Given the description of an element on the screen output the (x, y) to click on. 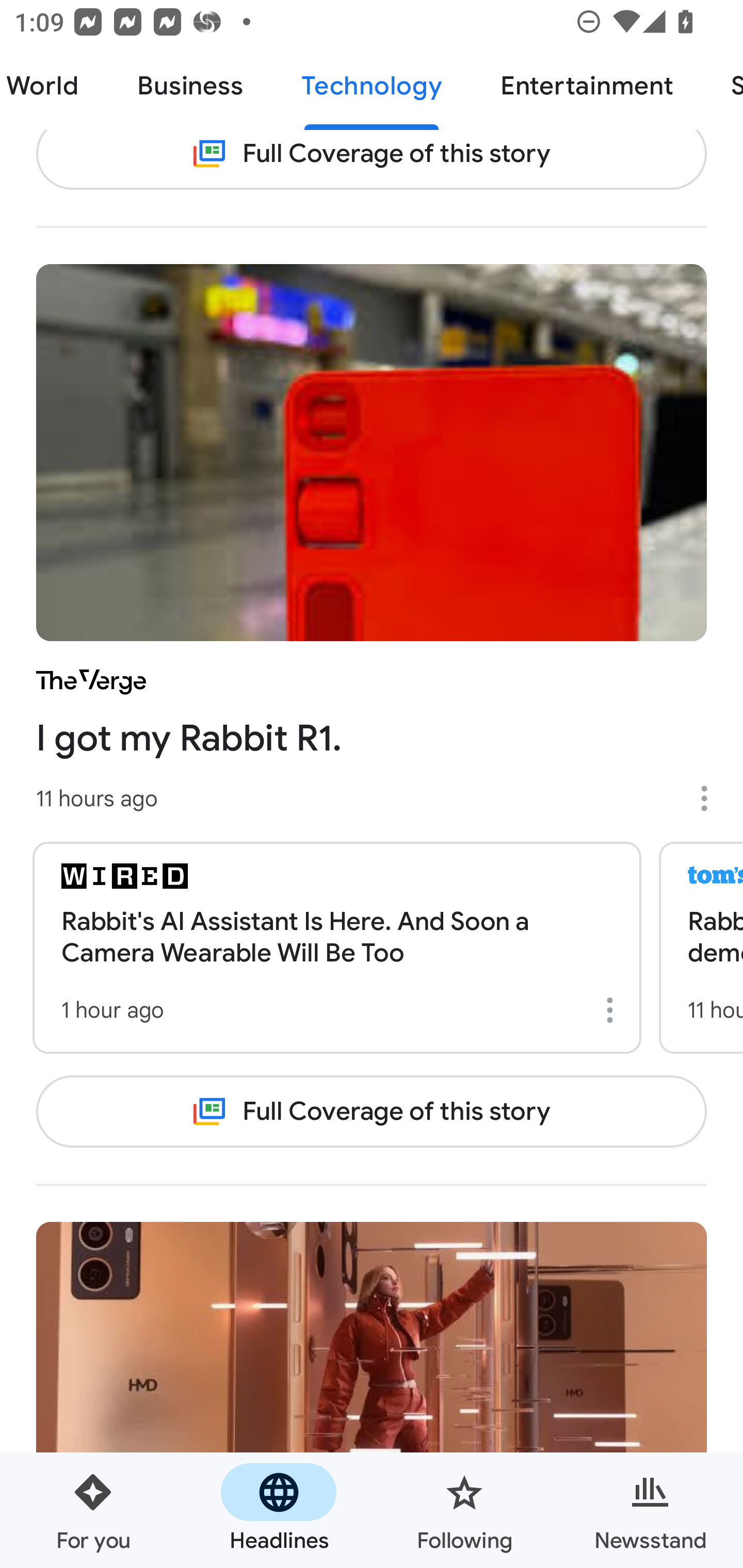
World (53, 86)
Business (189, 86)
Entertainment (586, 86)
Full Coverage of this story (371, 159)
More options (711, 798)
More options (613, 1010)
Full Coverage of this story (371, 1111)
For you (92, 1509)
Headlines (278, 1509)
Following (464, 1509)
Newsstand (650, 1509)
